Given the description of an element on the screen output the (x, y) to click on. 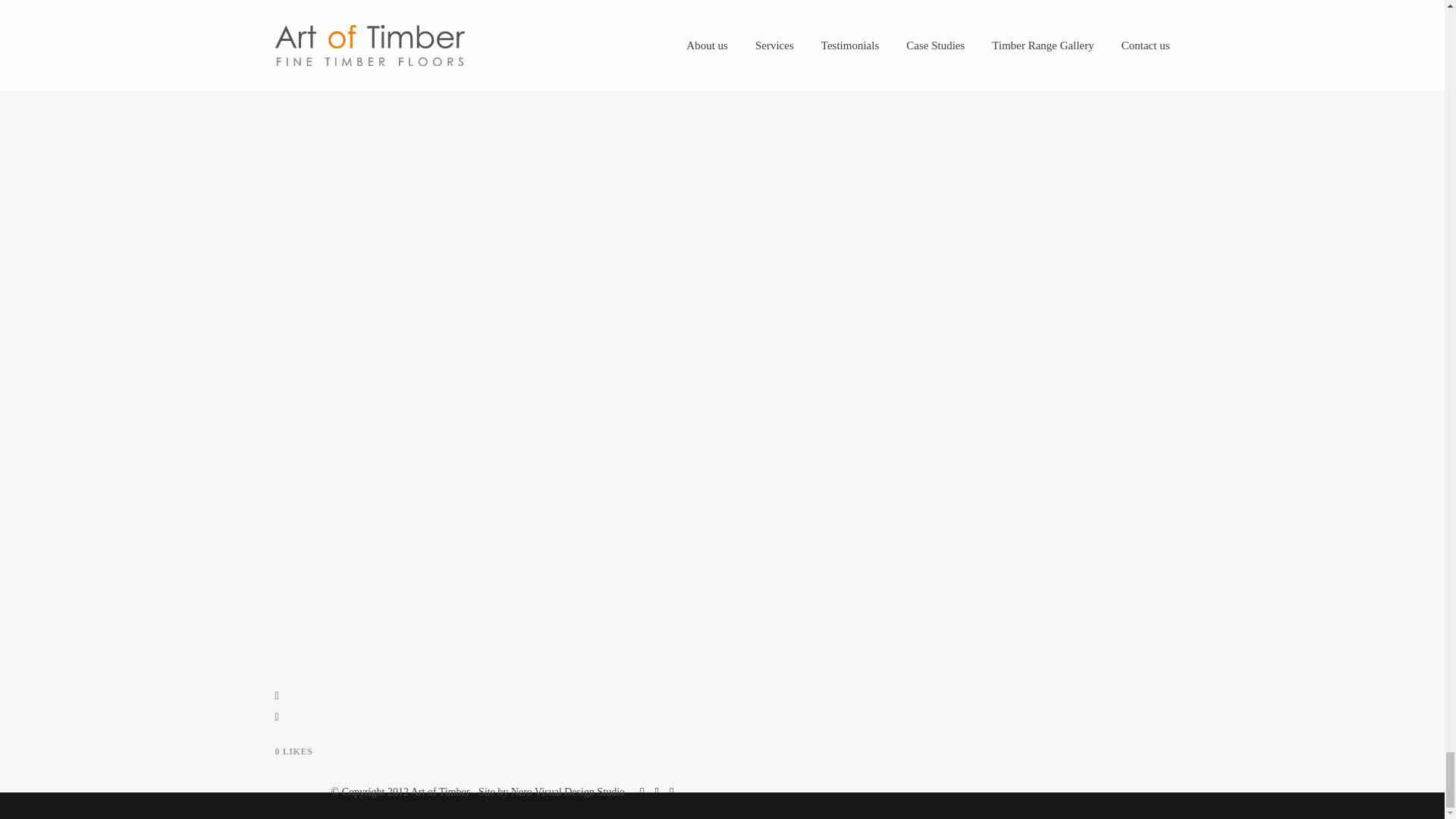
0 LIKES (294, 751)
